Given the description of an element on the screen output the (x, y) to click on. 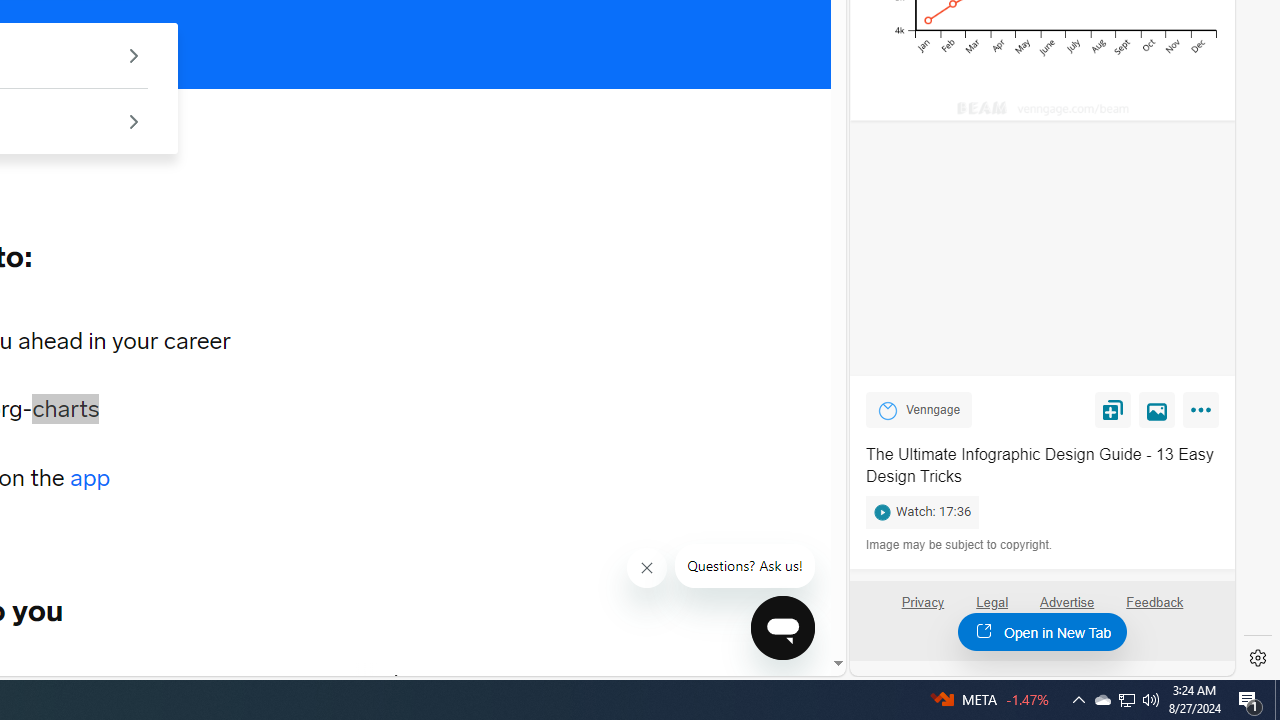
STRATEGY (283, 681)
app (90, 477)
Close message from company (647, 567)
Open in New Tab (1042, 631)
Class: sc-1k07fow-1 cbnSms (782, 627)
MEDIA (397, 681)
